Given the description of an element on the screen output the (x, y) to click on. 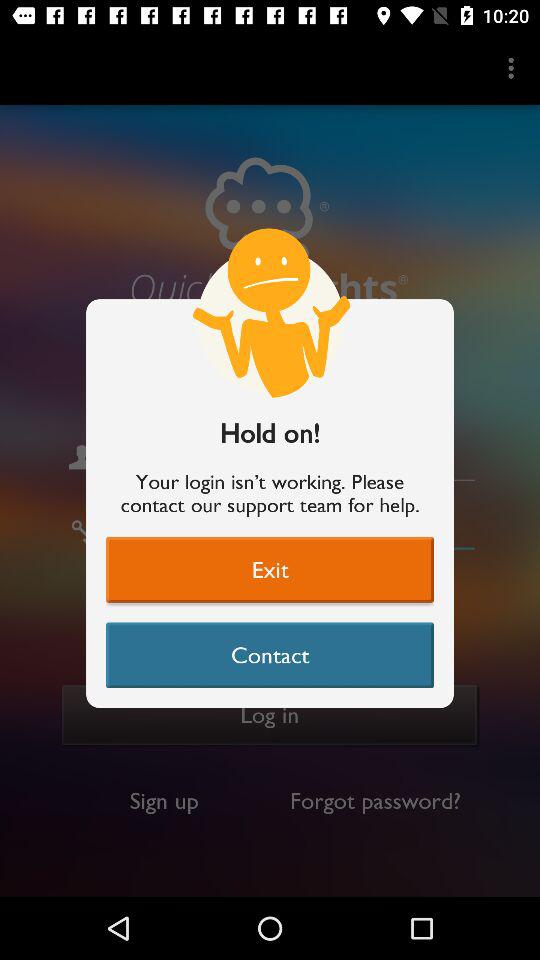
swipe until the exit (269, 569)
